Given the description of an element on the screen output the (x, y) to click on. 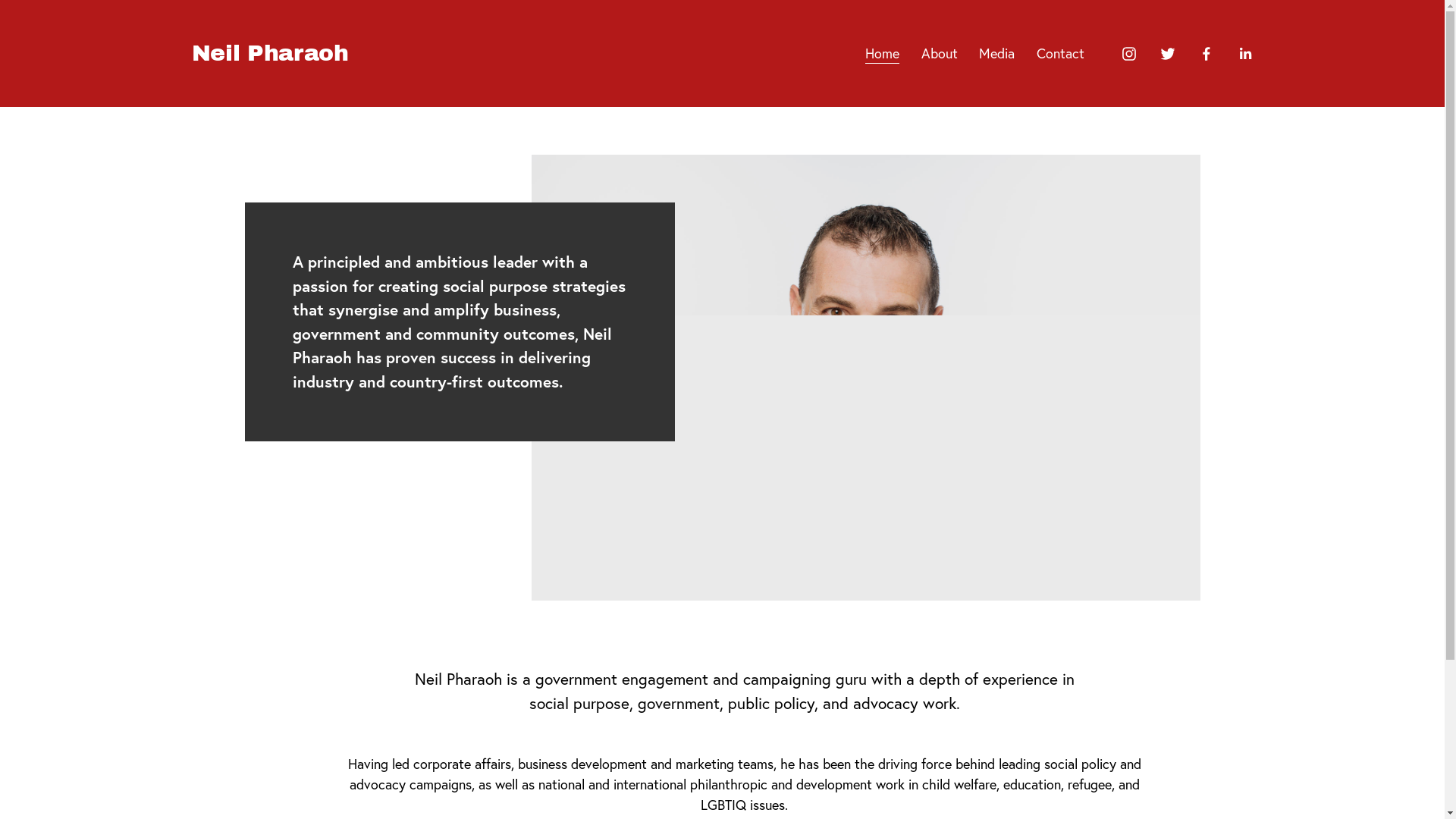
Neil Pharaoh Element type: text (269, 52)
Media Element type: text (996, 53)
About Element type: text (939, 53)
Contact Element type: text (1060, 53)
Home Element type: text (882, 53)
